Given the description of an element on the screen output the (x, y) to click on. 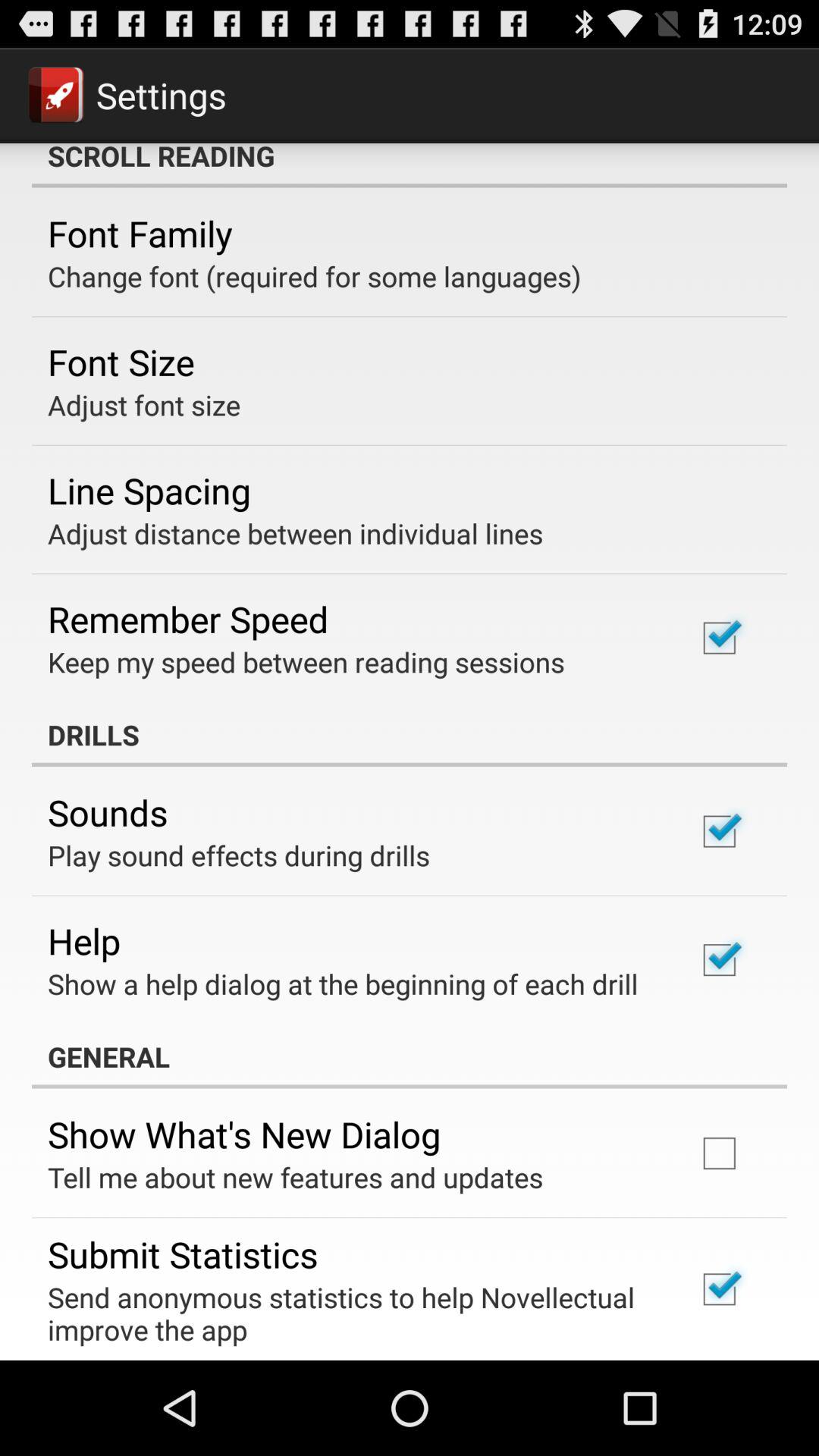
select submit statistics (182, 1254)
